Given the description of an element on the screen output the (x, y) to click on. 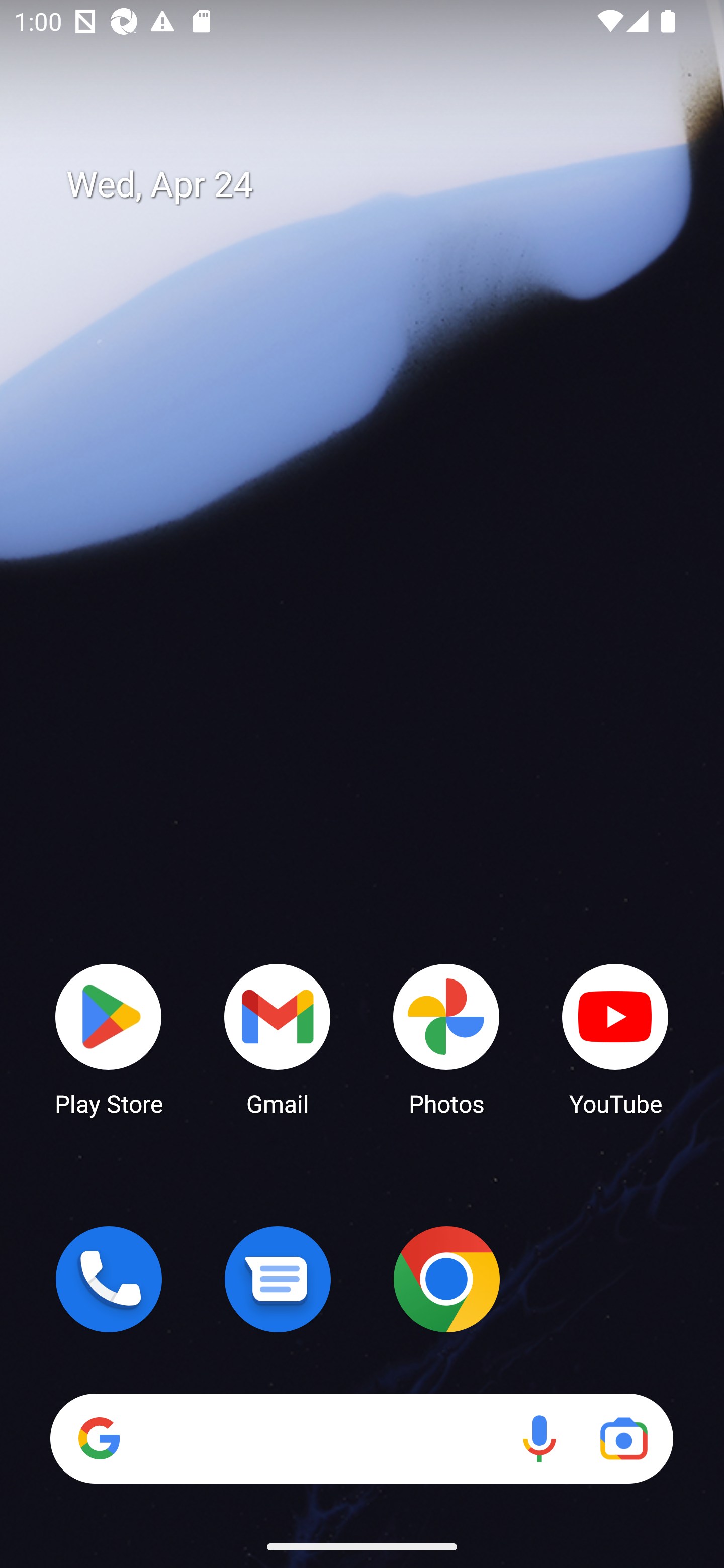
Wed, Apr 24 (375, 184)
Play Store (108, 1038)
Gmail (277, 1038)
Photos (445, 1038)
YouTube (615, 1038)
Phone (108, 1279)
Messages (277, 1279)
Chrome (446, 1279)
Search Voice search Google Lens (361, 1438)
Voice search (539, 1438)
Google Lens (623, 1438)
